Given the description of an element on the screen output the (x, y) to click on. 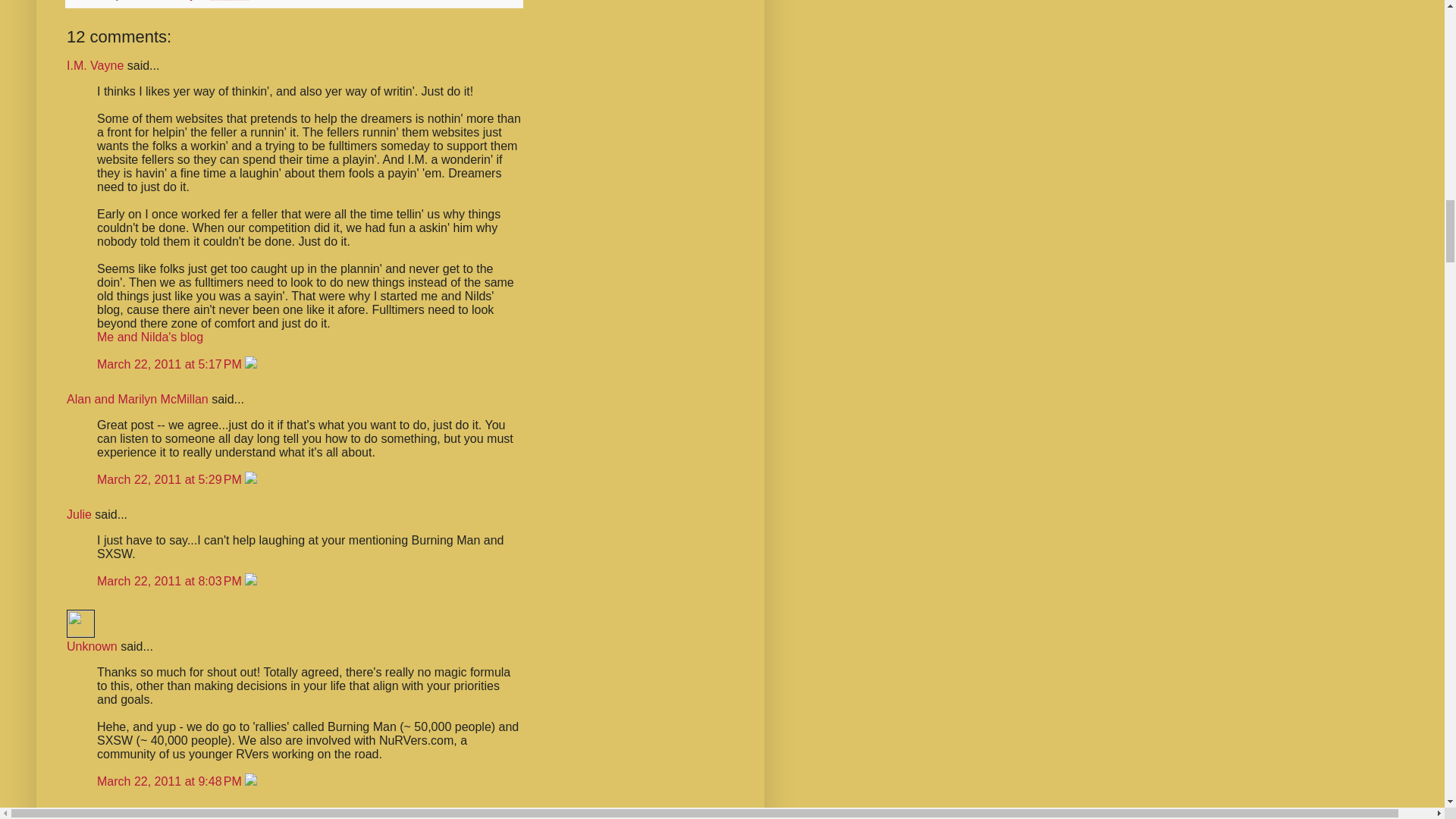
Unknown (91, 645)
Me and Nilda's blog (150, 336)
comment permalink (170, 581)
Julie (78, 513)
I.M. Vayne (94, 65)
Delete Comment (250, 364)
comment permalink (170, 780)
Alan and Marilyn McMillan (137, 399)
Along the Way with JnK (129, 814)
comment permalink (170, 364)
